Given the description of an element on the screen output the (x, y) to click on. 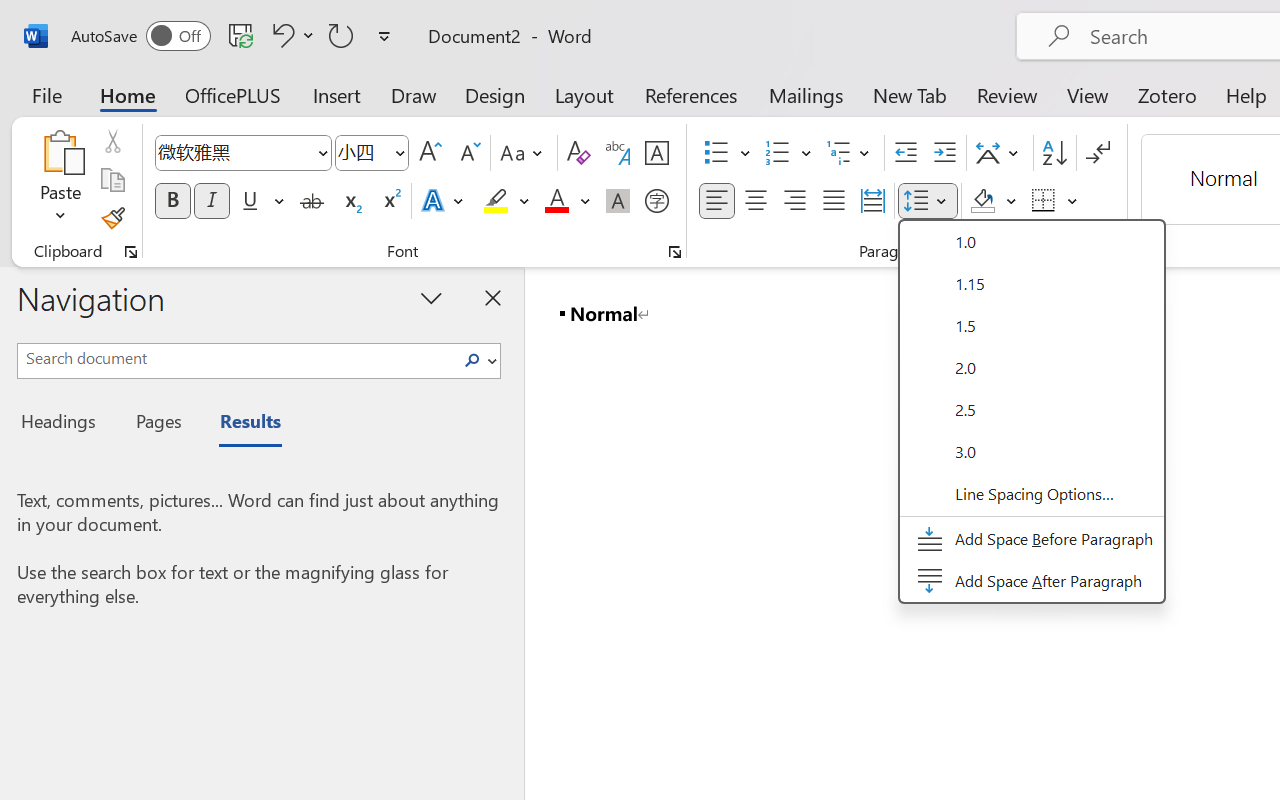
Shrink Font (468, 153)
Underline (250, 201)
Bullets (716, 153)
Sort... (1054, 153)
Numbering (788, 153)
Insert (337, 94)
Mailings (806, 94)
Superscript (390, 201)
Draw (413, 94)
Cut (112, 141)
File Tab (46, 94)
Font Size (362, 152)
Italic (212, 201)
